Given the description of an element on the screen output the (x, y) to click on. 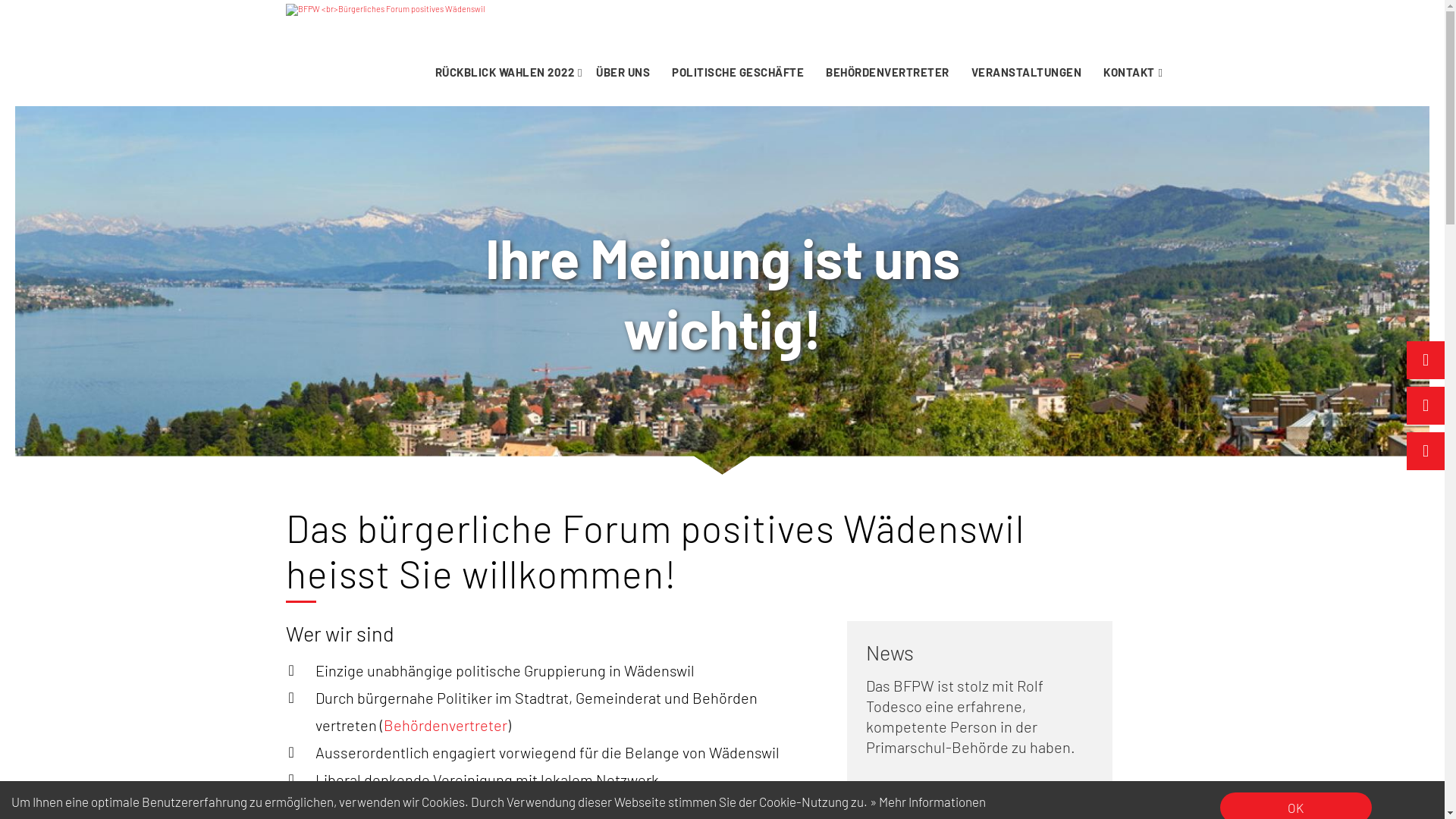
VERANSTALTUNGEN Element type: text (1025, 71)
KONTAKT Element type: text (1128, 71)
